Given the description of an element on the screen output the (x, y) to click on. 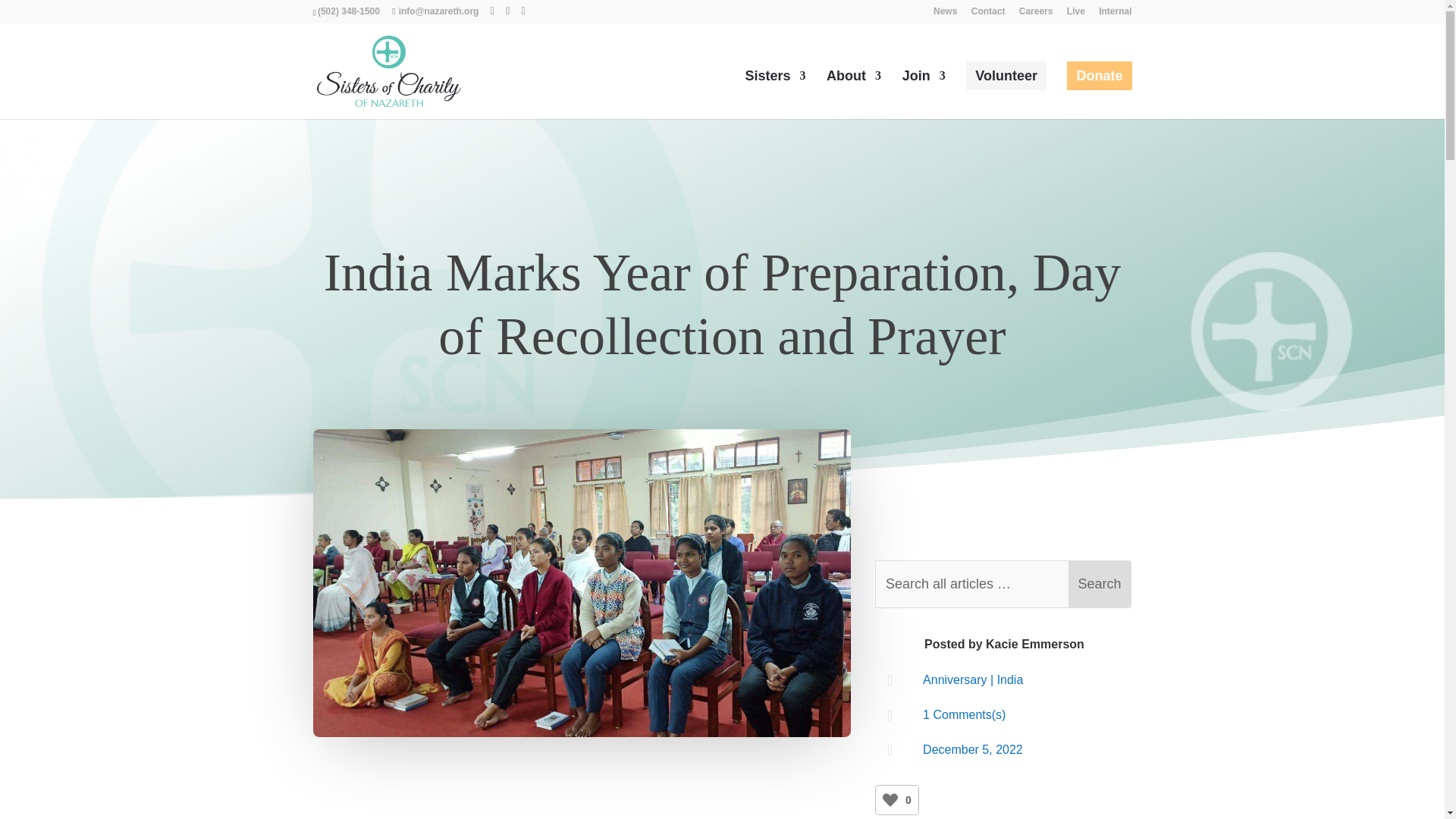
About (853, 94)
Search (1099, 584)
Live (1075, 14)
News (944, 14)
Sisters (774, 94)
Contact (988, 14)
Search (1099, 584)
Careers (1035, 14)
Internal (1115, 14)
